Given the description of an element on the screen output the (x, y) to click on. 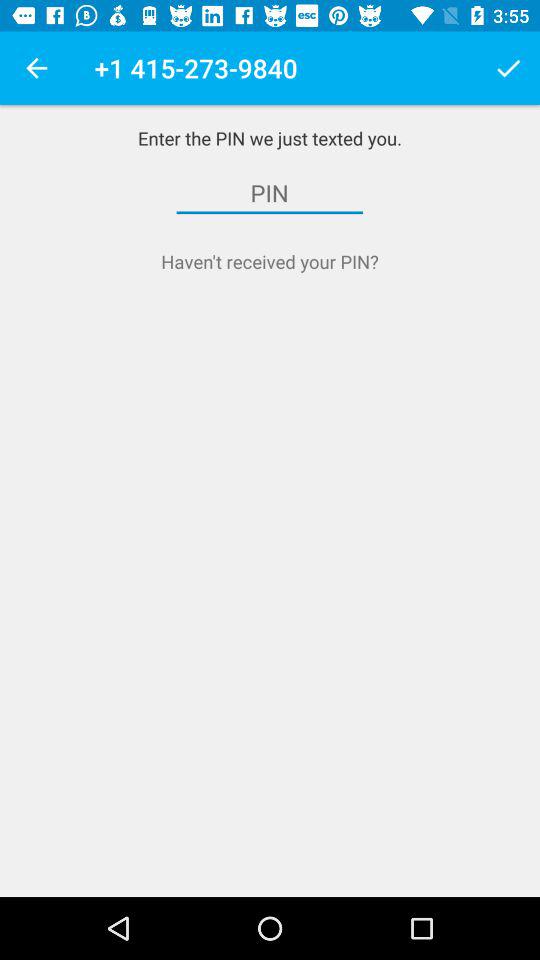
choose the item next to the 1 415 273 (36, 68)
